Given the description of an element on the screen output the (x, y) to click on. 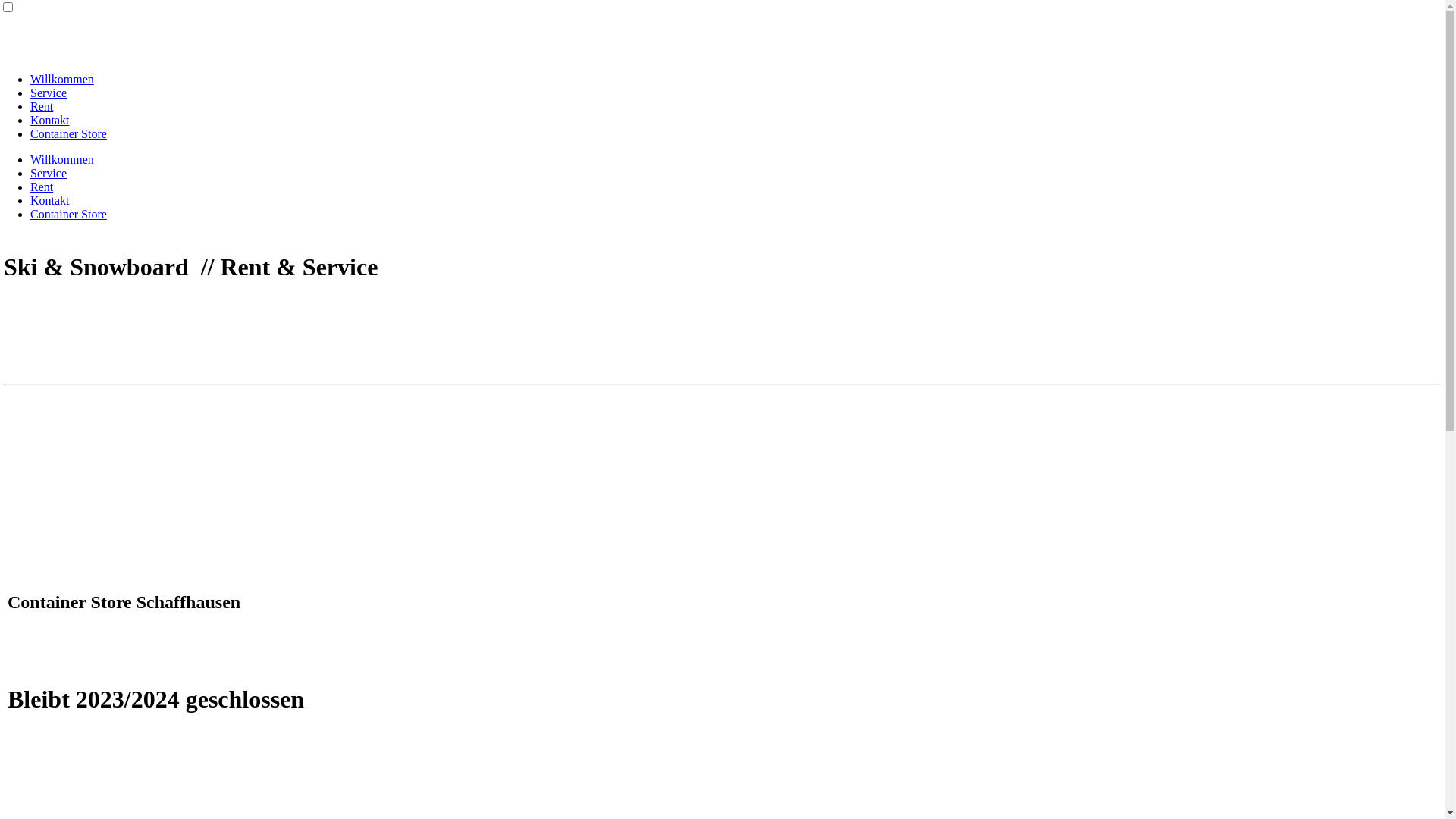
Kontakt Element type: text (49, 119)
Rent Element type: text (41, 106)
Willkommen Element type: text (62, 78)
Rent Element type: text (41, 186)
Container Store Element type: text (68, 133)
Container Store Element type: text (68, 213)
Service Element type: text (48, 172)
Willkommen Element type: text (62, 159)
Kontakt Element type: text (49, 200)
Service Element type: text (48, 92)
